Given the description of an element on the screen output the (x, y) to click on. 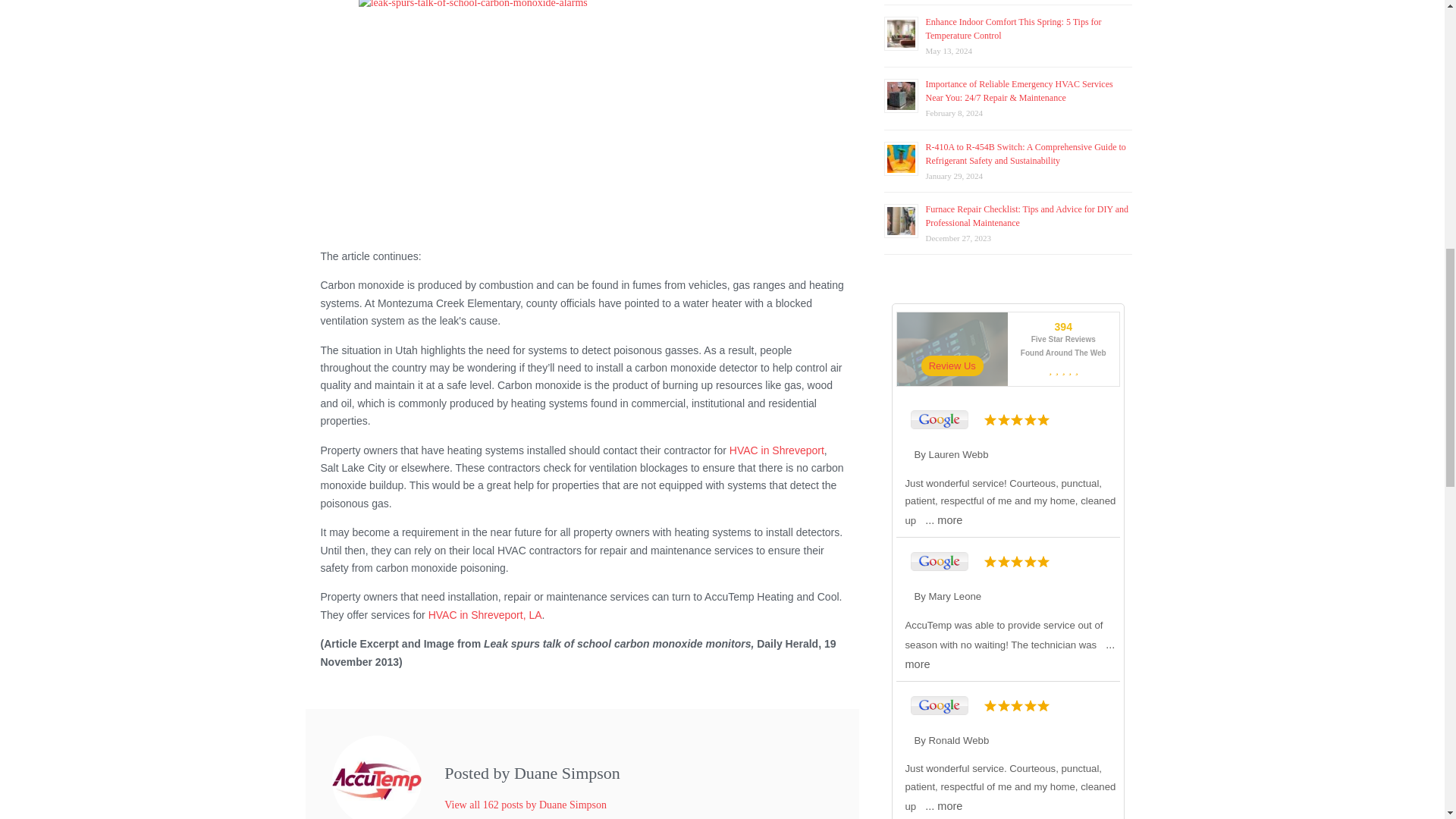
View all 162 posts by Duane Simpson (525, 804)
HVAC in Shreveport (776, 450)
HVAC in Shreveport, LA (484, 614)
